Given the description of an element on the screen output the (x, y) to click on. 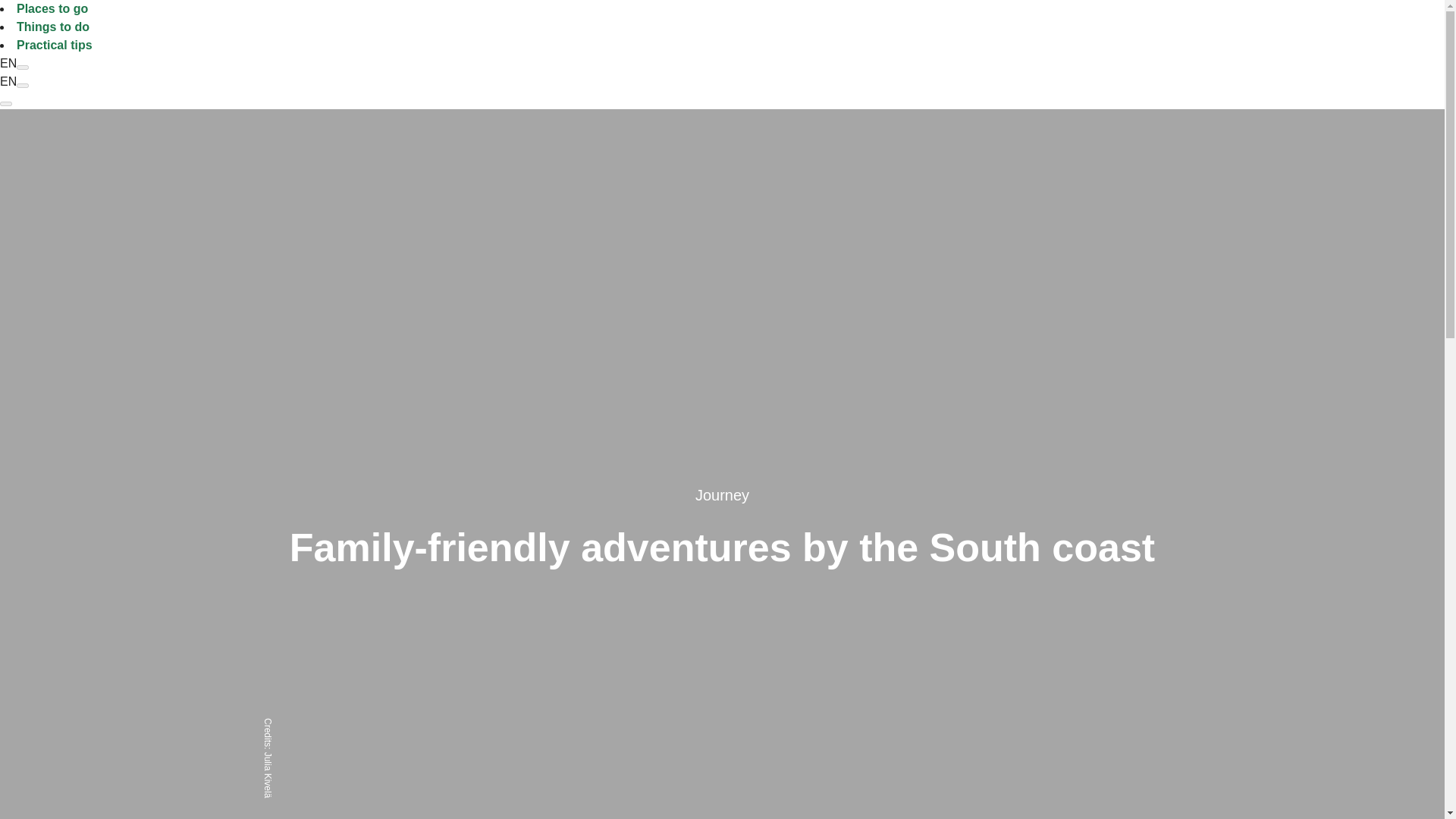
Places to go (51, 8)
Practical tips (54, 44)
Things to do (52, 26)
